Given the description of an element on the screen output the (x, y) to click on. 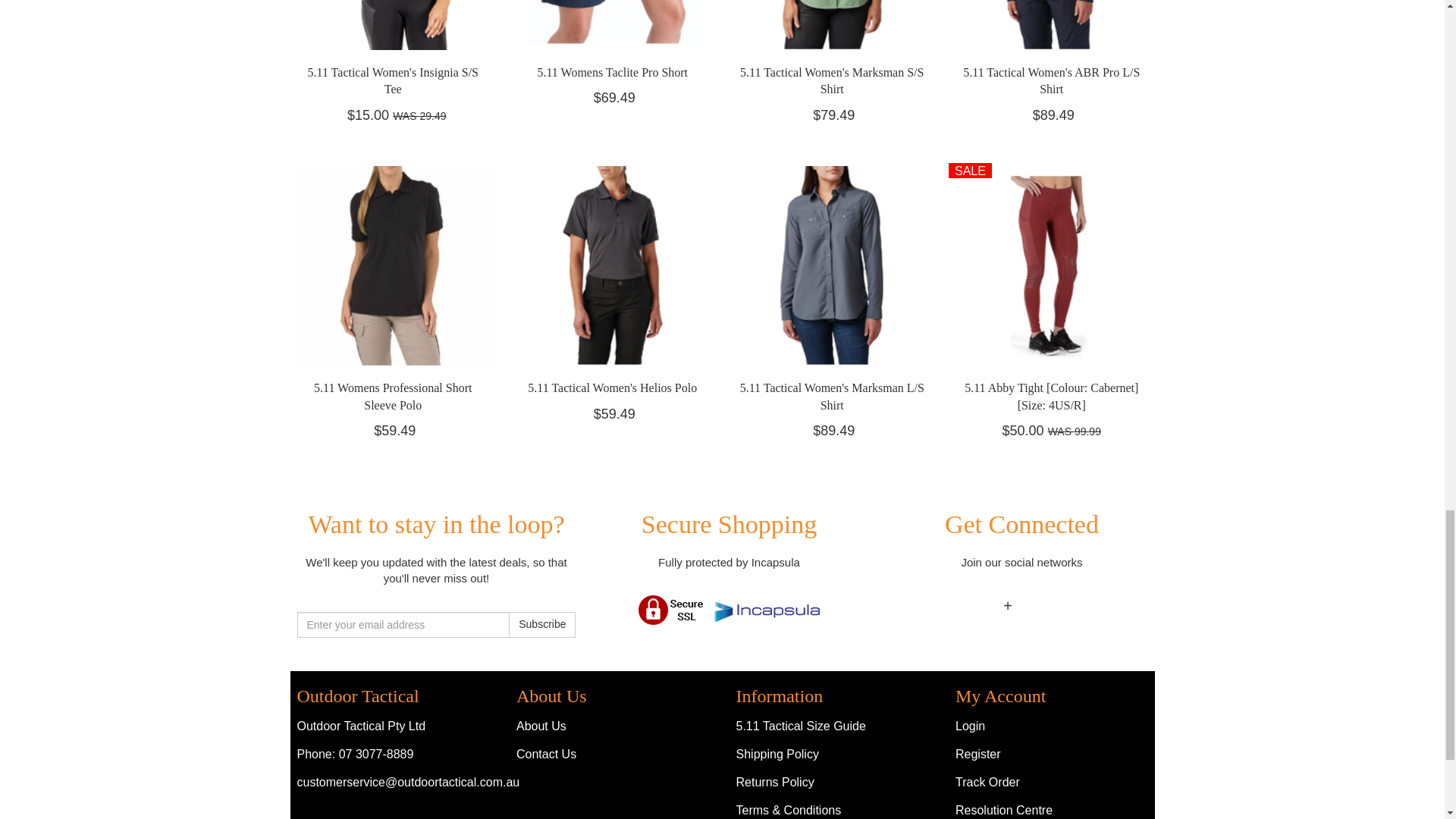
5.11 Tactical Women's Helios Polo (612, 387)
Subscribe (541, 624)
5.11 Womens Taclite Pro Short (612, 72)
5.11 Womens Professional Short Sleeve Polo (392, 396)
